Given the description of an element on the screen output the (x, y) to click on. 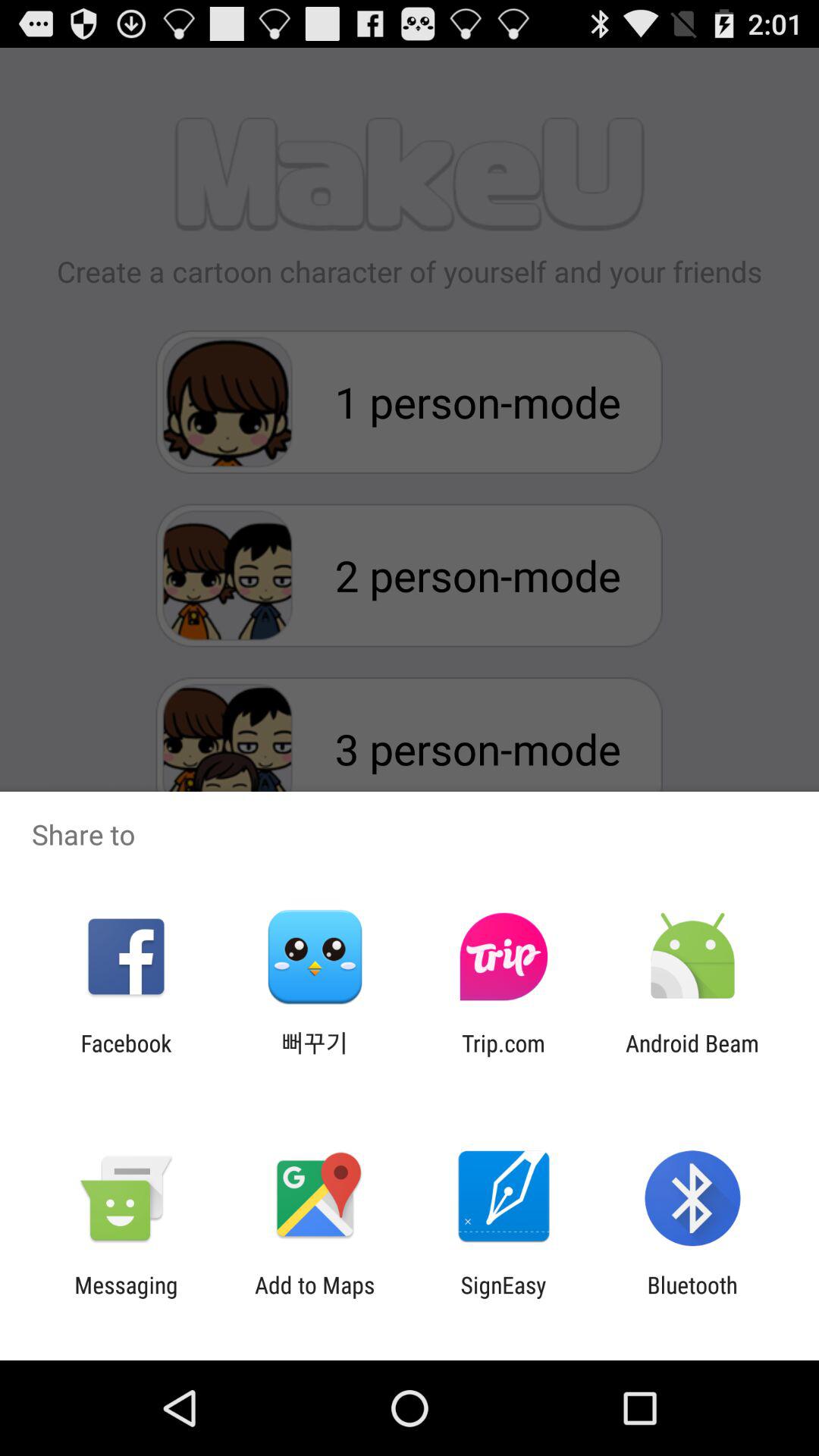
press add to maps (314, 1298)
